Given the description of an element on the screen output the (x, y) to click on. 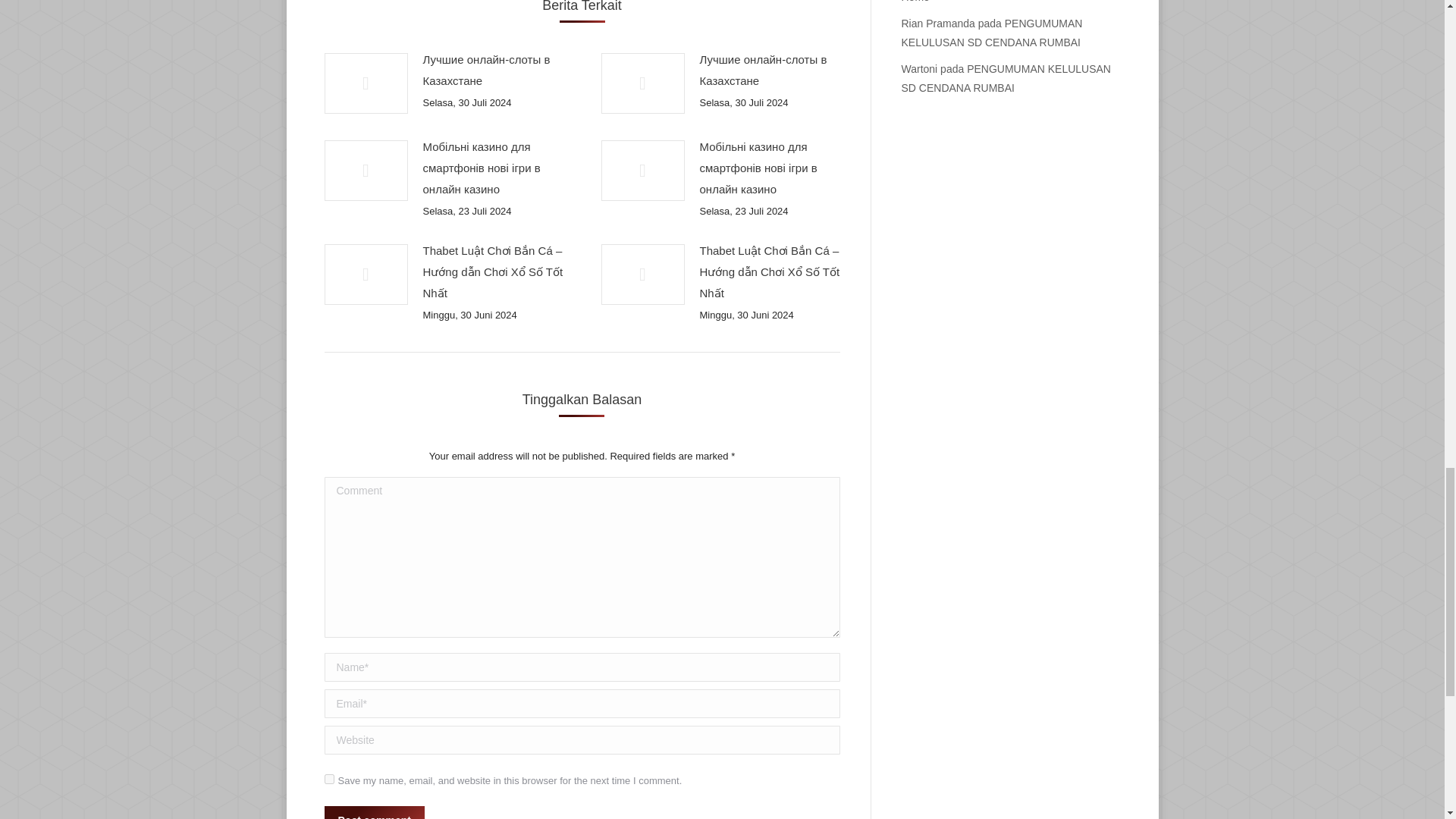
yes (329, 778)
